Given the description of an element on the screen output the (x, y) to click on. 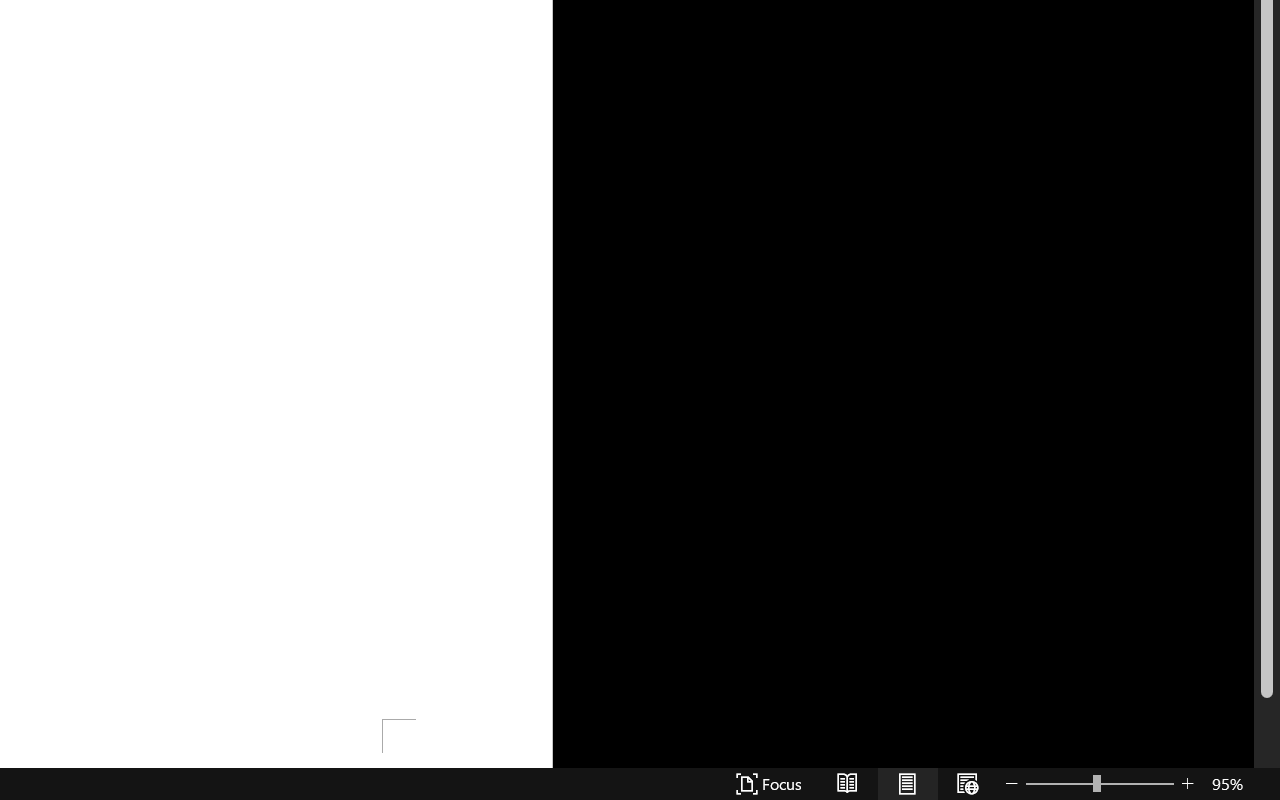
Page down (1267, 734)
Line down (1267, 785)
